Given the description of an element on the screen output the (x, y) to click on. 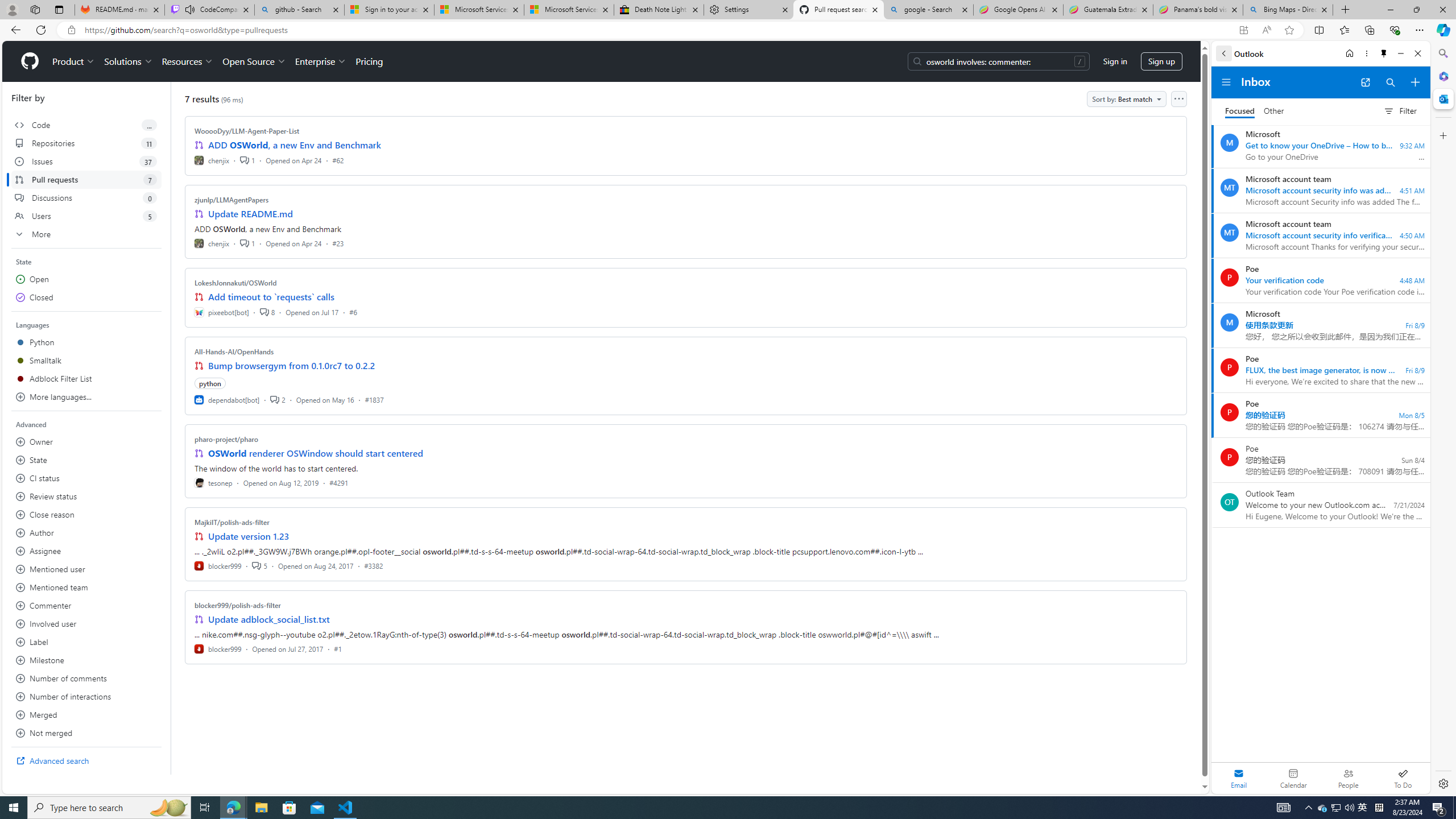
Sign in to your account (389, 9)
OSWorld renderer OSWindow should start centered (315, 453)
#23 (337, 242)
#1 (337, 648)
